Given the description of an element on the screen output the (x, y) to click on. 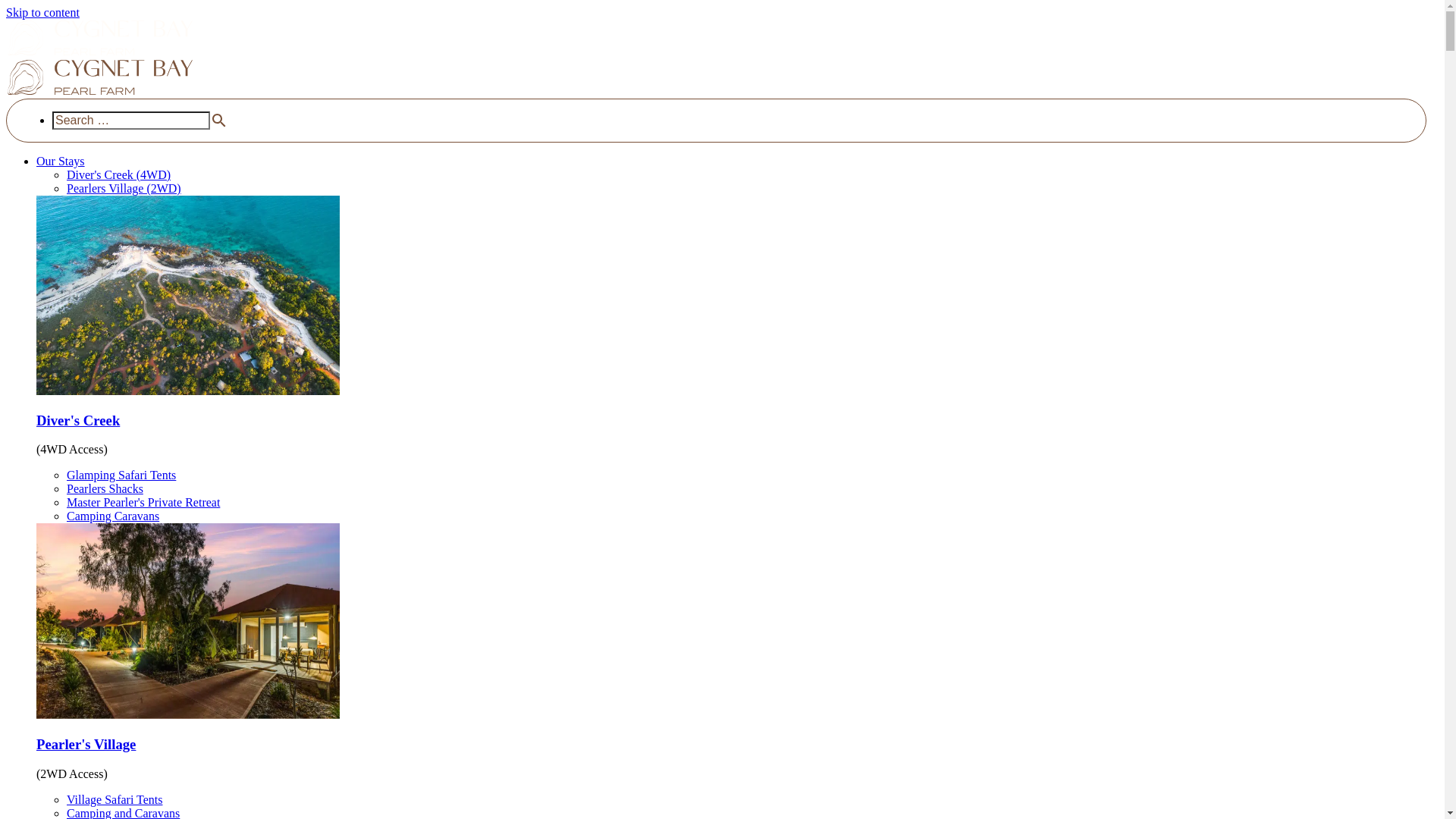
Camping Caravans Element type: text (112, 515)
Pearlers Village (2WD) Element type: text (123, 188)
Glamping Safari Tents Element type: text (120, 474)
Pearlers Shacks Element type: text (104, 488)
Master Pearler's Private Retreat Element type: text (142, 501)
Our Stays Element type: text (60, 160)
Diver's Creek Element type: text (77, 420)
Skip to content Element type: text (42, 12)
Diver's Creek (4WD) Element type: text (118, 174)
Pearler's Village Element type: text (85, 744)
Village Safari Tents Element type: text (114, 799)
